Given the description of an element on the screen output the (x, y) to click on. 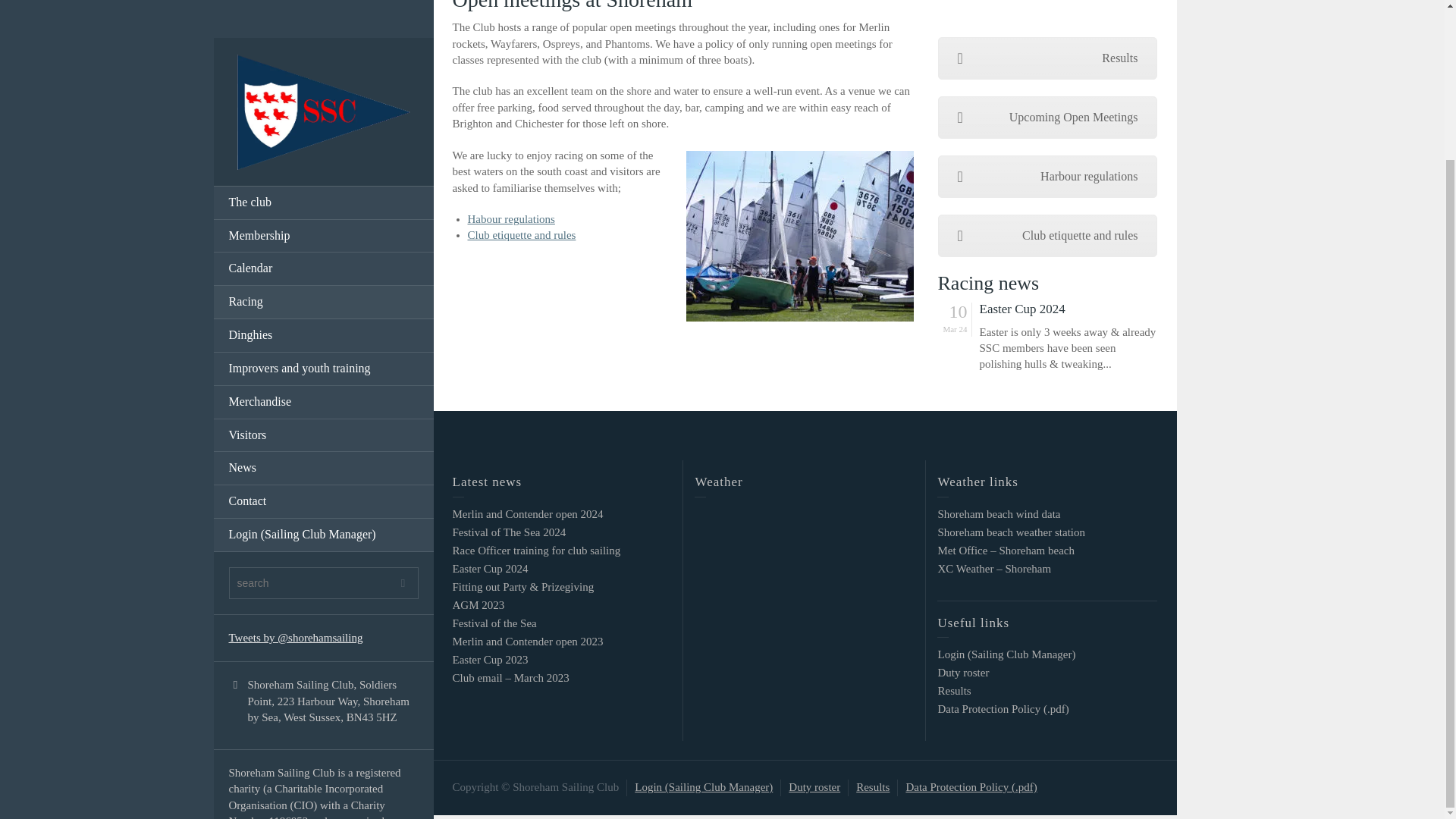
Easter Cup 2024 (1068, 309)
Club etiquette and rules (1047, 235)
Charity Commission (275, 711)
Racing (323, 114)
National 12s (682, 107)
The club (323, 15)
Improvers and youth training (323, 181)
Calendar (323, 80)
Visitors (323, 247)
Upcoming Open Meetings (1047, 117)
National 12s (682, 43)
Harbour regulations (1047, 176)
News (323, 280)
Dinghies (323, 147)
Results (1047, 57)
